Given the description of an element on the screen output the (x, y) to click on. 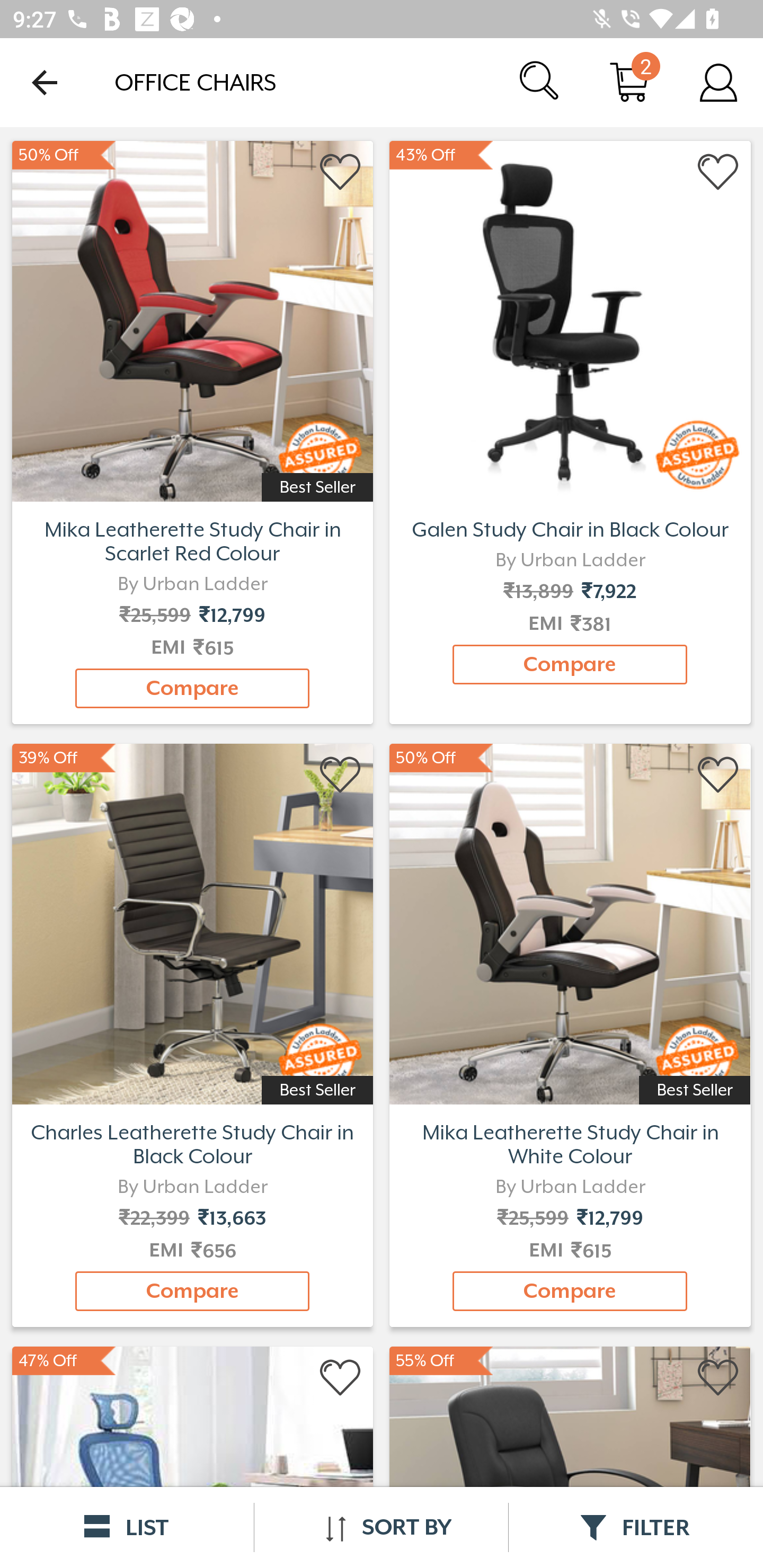
Navigate up (44, 82)
Search (540, 81)
Cart (629, 81)
Account Details (718, 81)
 (341, 172)
 (718, 172)
Compare (569, 663)
Compare (192, 687)
 (341, 775)
 (718, 775)
Compare (192, 1290)
Compare (569, 1290)
 (341, 1377)
 (718, 1377)
 LIST (127, 1527)
SORT BY (381, 1527)
 FILTER (635, 1527)
